Given the description of an element on the screen output the (x, y) to click on. 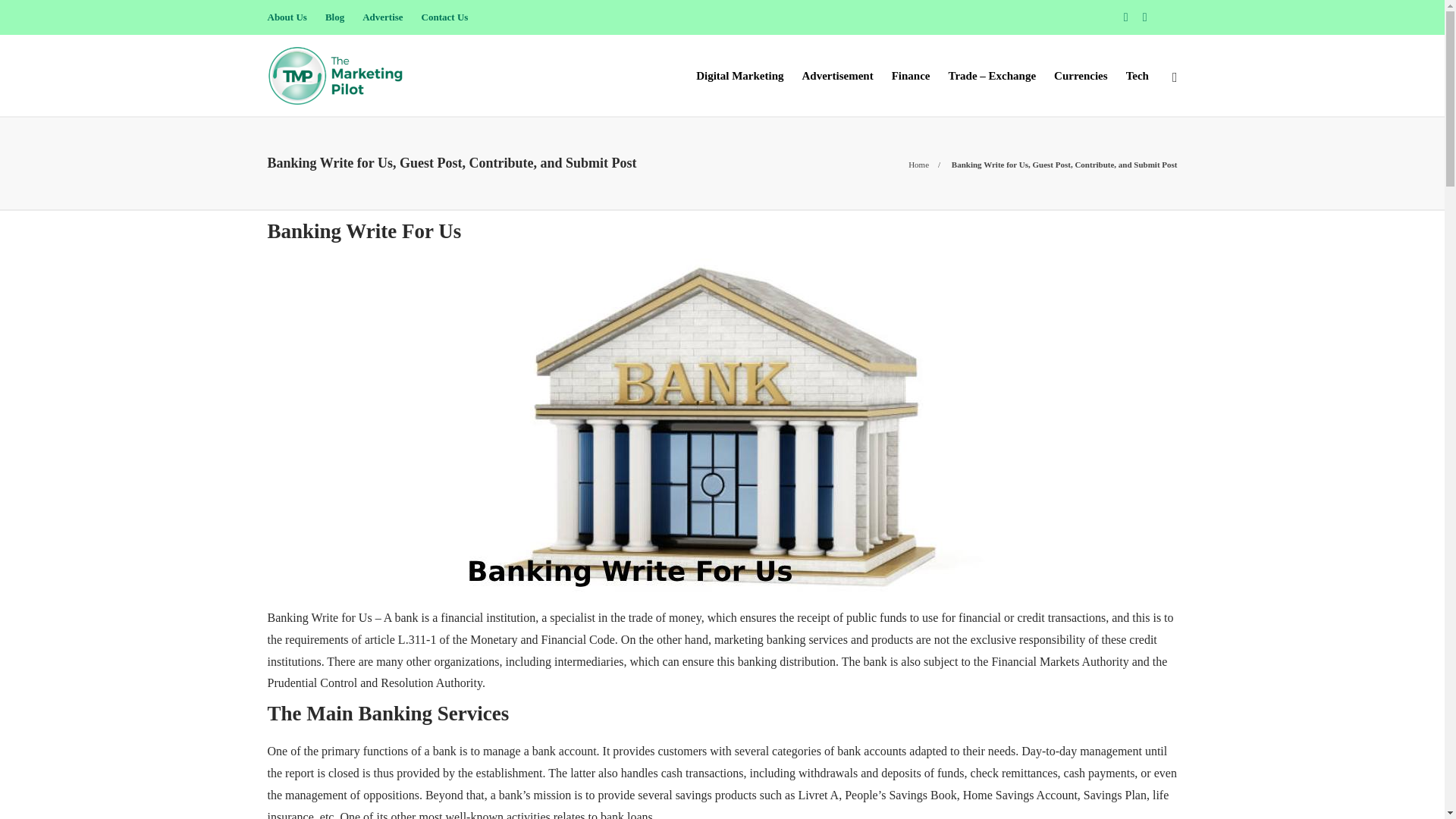
Advertisement (837, 75)
Advertise (382, 17)
Home (918, 163)
Contact Us (445, 17)
About Us (285, 17)
Digital Marketing (739, 75)
